Given the description of an element on the screen output the (x, y) to click on. 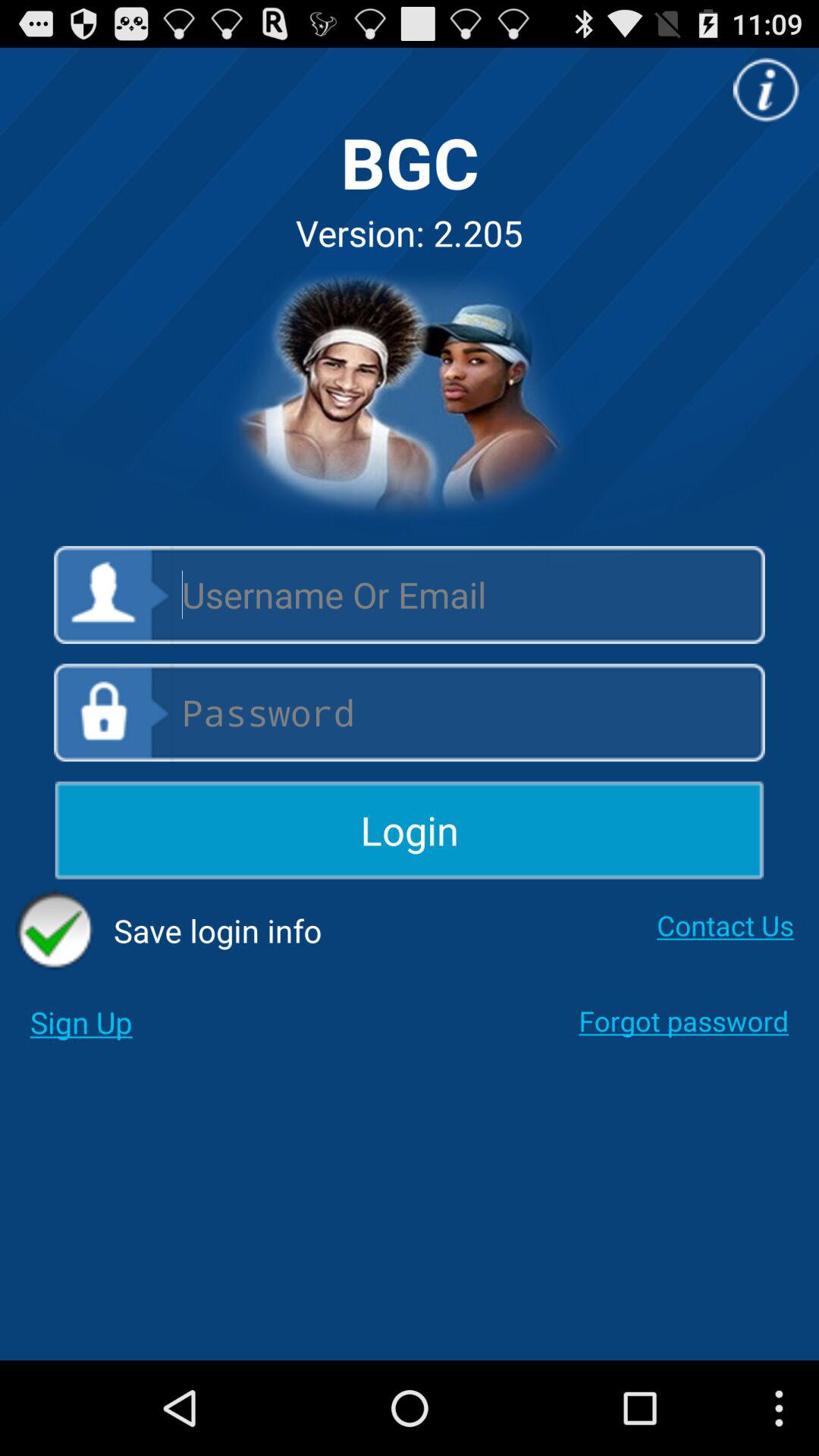
launch icon at the top right corner (766, 89)
